Given the description of an element on the screen output the (x, y) to click on. 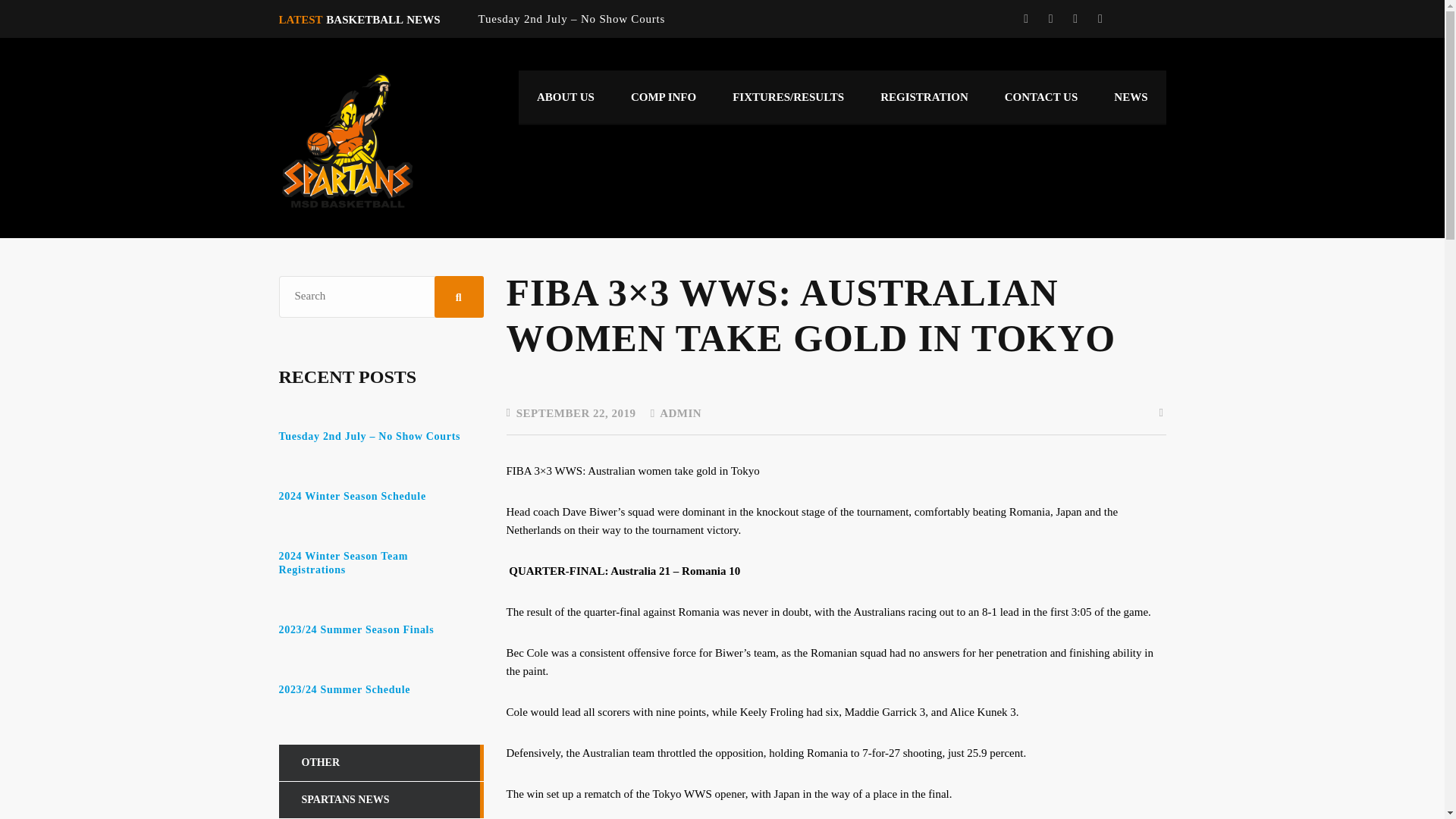
CONTACT US (1041, 96)
Home (346, 139)
NEWS (1131, 96)
REGISTRATION (924, 96)
ABOUT US (565, 96)
COMP INFO (663, 96)
